Given the description of an element on the screen output the (x, y) to click on. 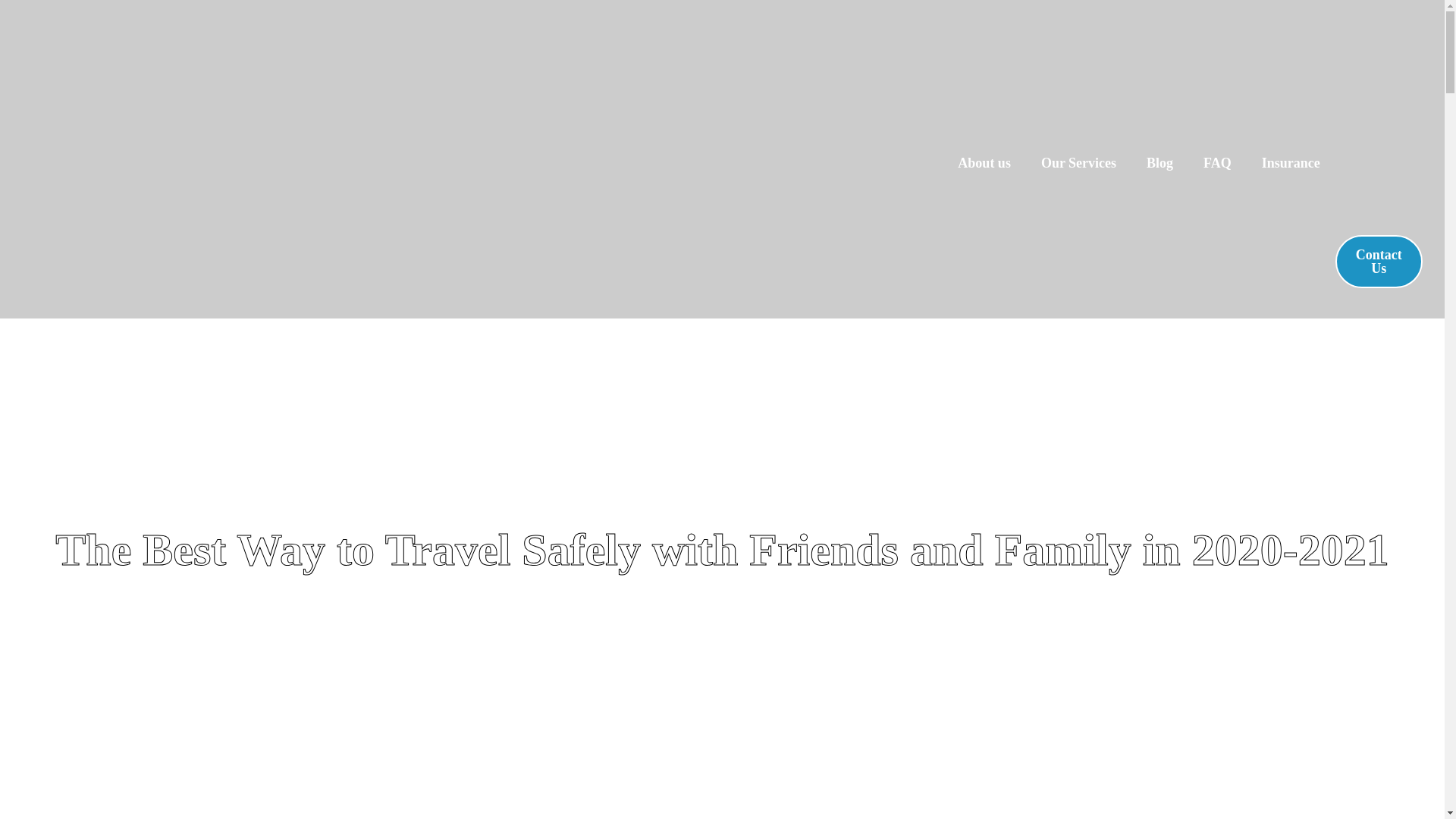
About us (984, 163)
Our Services (1078, 163)
